Given the description of an element on the screen output the (x, y) to click on. 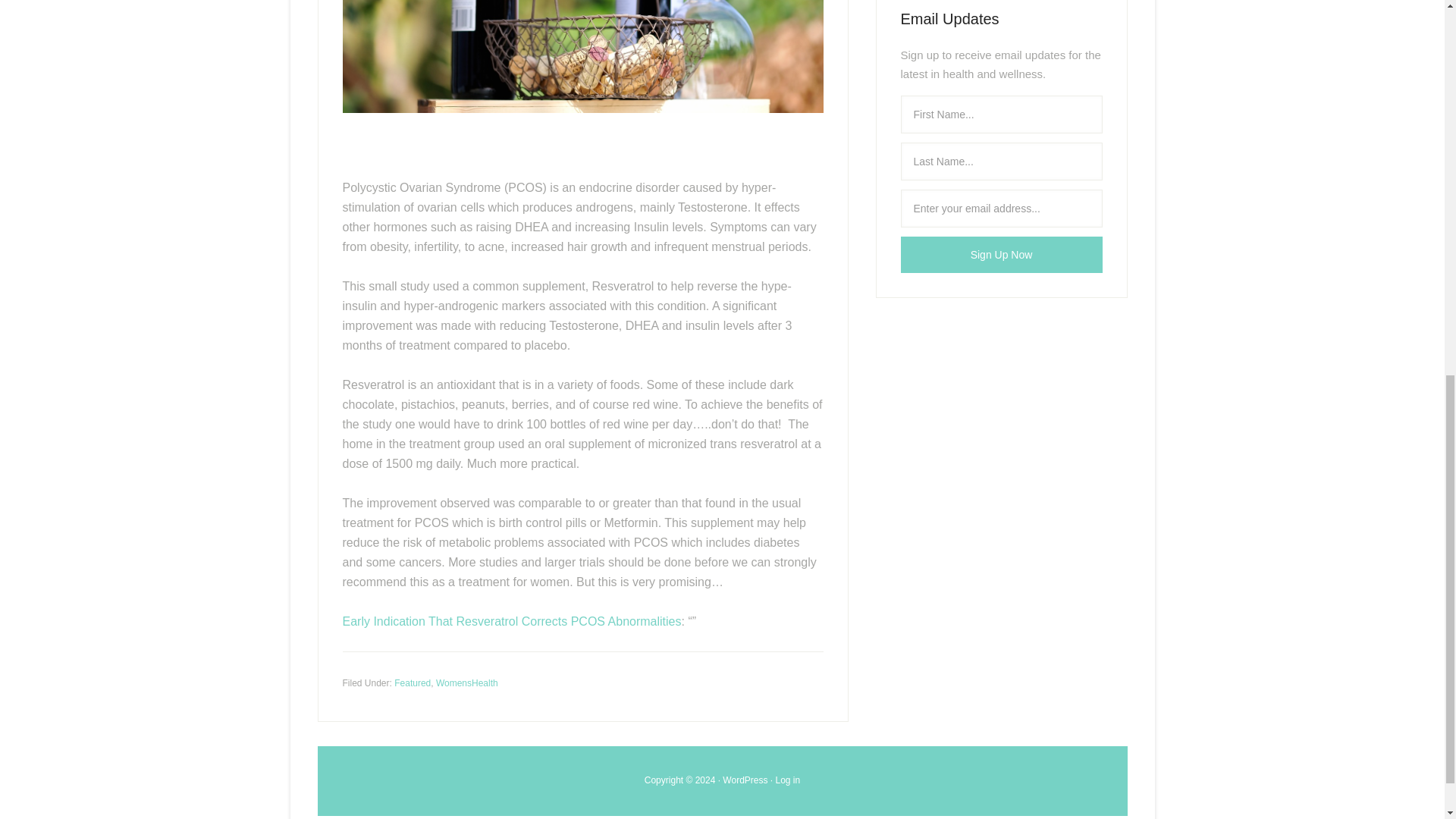
Sign Up Now (1001, 254)
WordPress (744, 779)
Log in (788, 779)
Sign Up Now (1001, 254)
Photo by wiggijo (583, 56)
WomensHealth (466, 683)
Featured (412, 683)
